Given the description of an element on the screen output the (x, y) to click on. 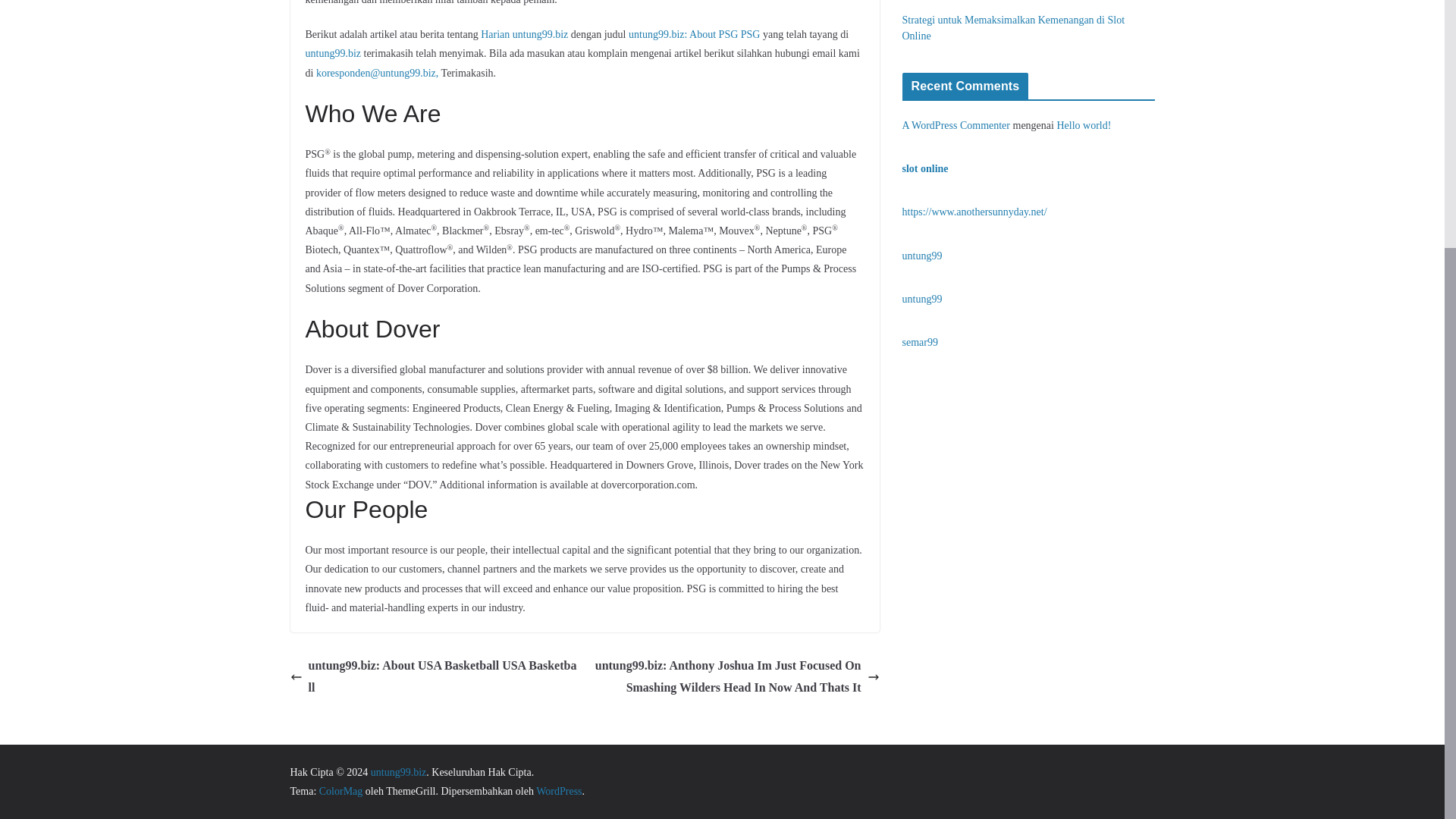
Harian untung99.biz (523, 34)
untung99.biz: About PSG PSG (694, 34)
slot online (925, 168)
Hello world! (1083, 125)
untung99.biz (332, 52)
untung99.biz: About USA Basketball USA Basketball (432, 677)
WordPress (557, 790)
ColorMag (340, 790)
